Given the description of an element on the screen output the (x, y) to click on. 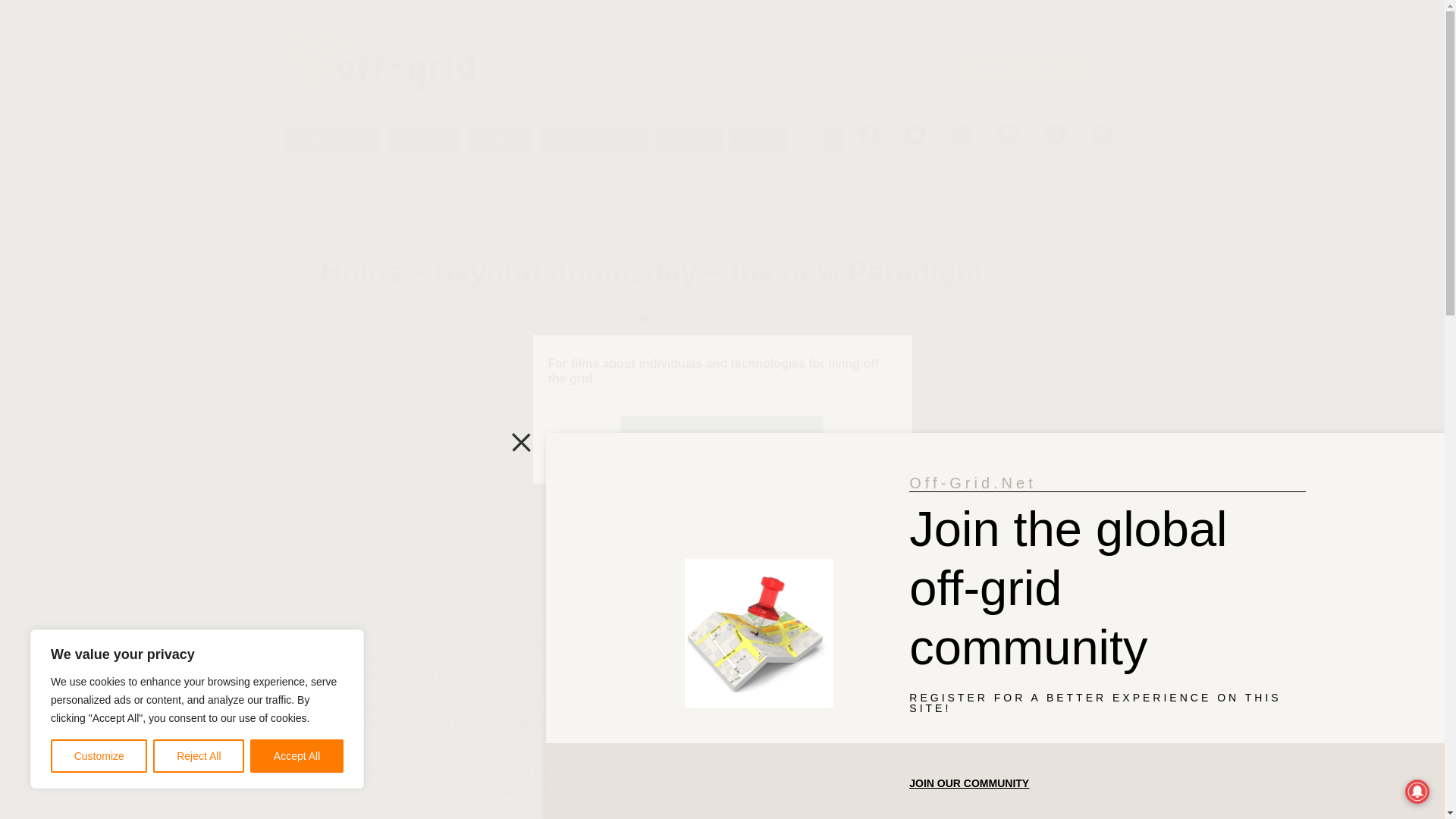
Reject All (198, 756)
Accept All (296, 756)
Checkout our YouTube channel (722, 442)
Customize (98, 756)
